Given the description of an element on the screen output the (x, y) to click on. 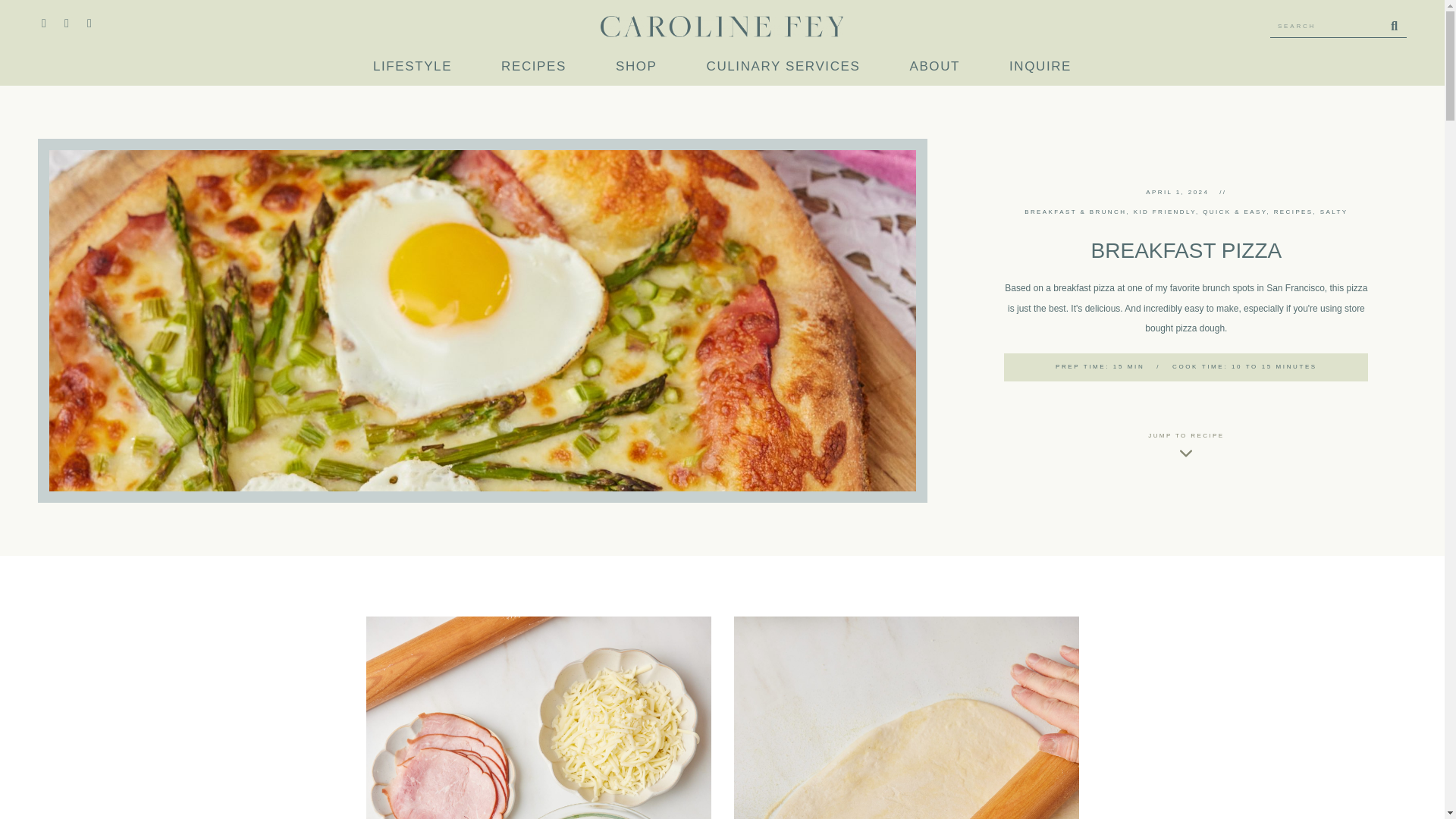
LIFESTYLE (411, 66)
ABOUT (933, 66)
INQUIRE (1040, 66)
RECIPES (533, 66)
CULINARY SERVICES (783, 66)
SHOP (636, 66)
